Given the description of an element on the screen output the (x, y) to click on. 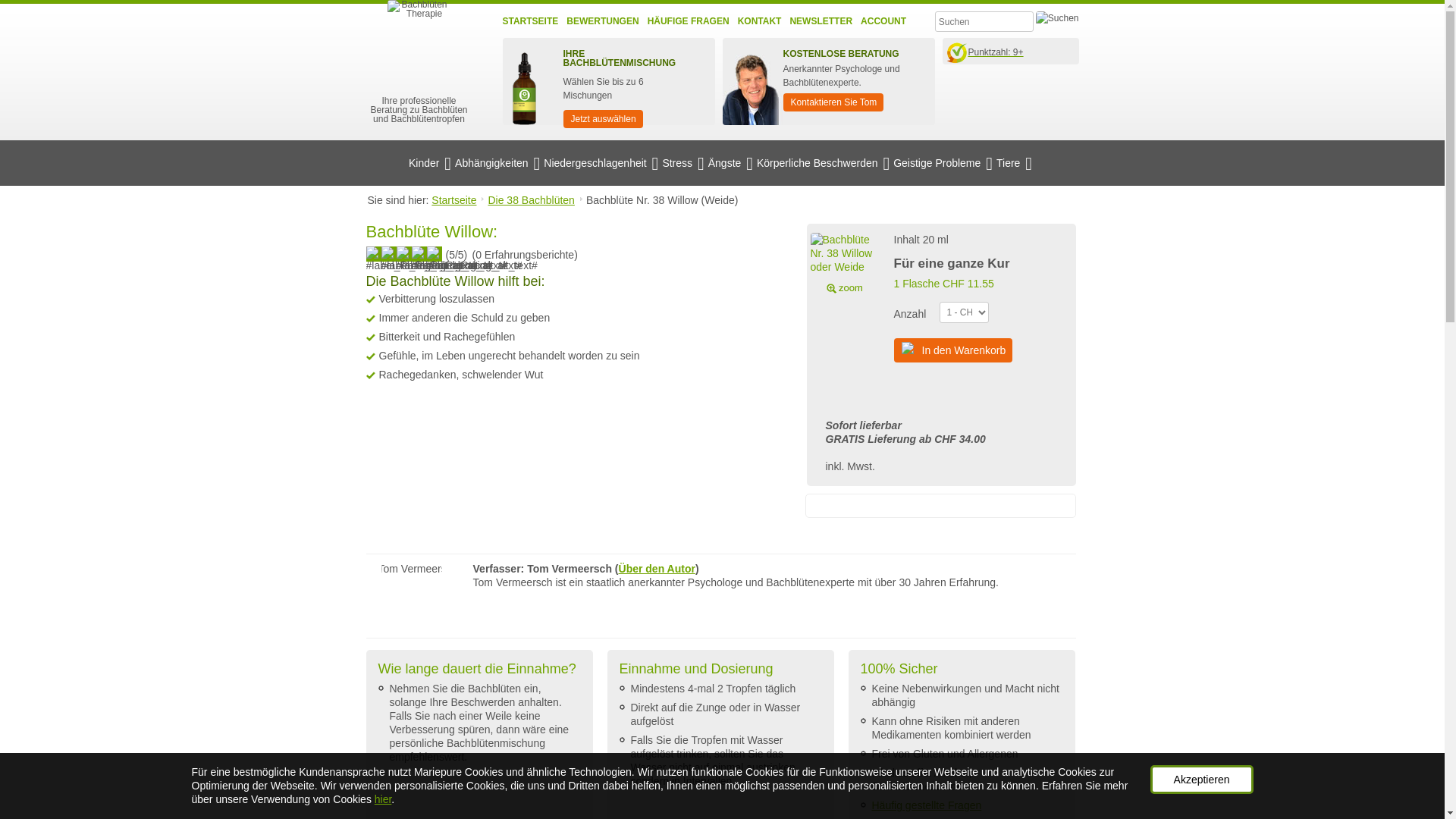
hier Element type: text (383, 799)
Kinder Element type: text (429, 163)
Stress Element type: text (682, 163)
Startseite Element type: text (457, 200)
Kontaktieren Sie Tom Element type: text (832, 102)
ACCOUNT Element type: text (883, 20)
STARTSEITE Element type: text (530, 20)
Niedergeschlagenheit Element type: text (600, 163)
Tiere Element type: text (1014, 163)
Suchen Element type: hover (1057, 19)
BEWERTUNGEN Element type: text (602, 20)
NEWSLETTER Element type: text (820, 20)
In den Warenkorb Element type: text (952, 350)
Geistige Probleme Element type: text (942, 163)
KONTAKT Element type: text (759, 20)
Punktzahl: 9+ Element type: text (1012, 50)
